Given the description of an element on the screen output the (x, y) to click on. 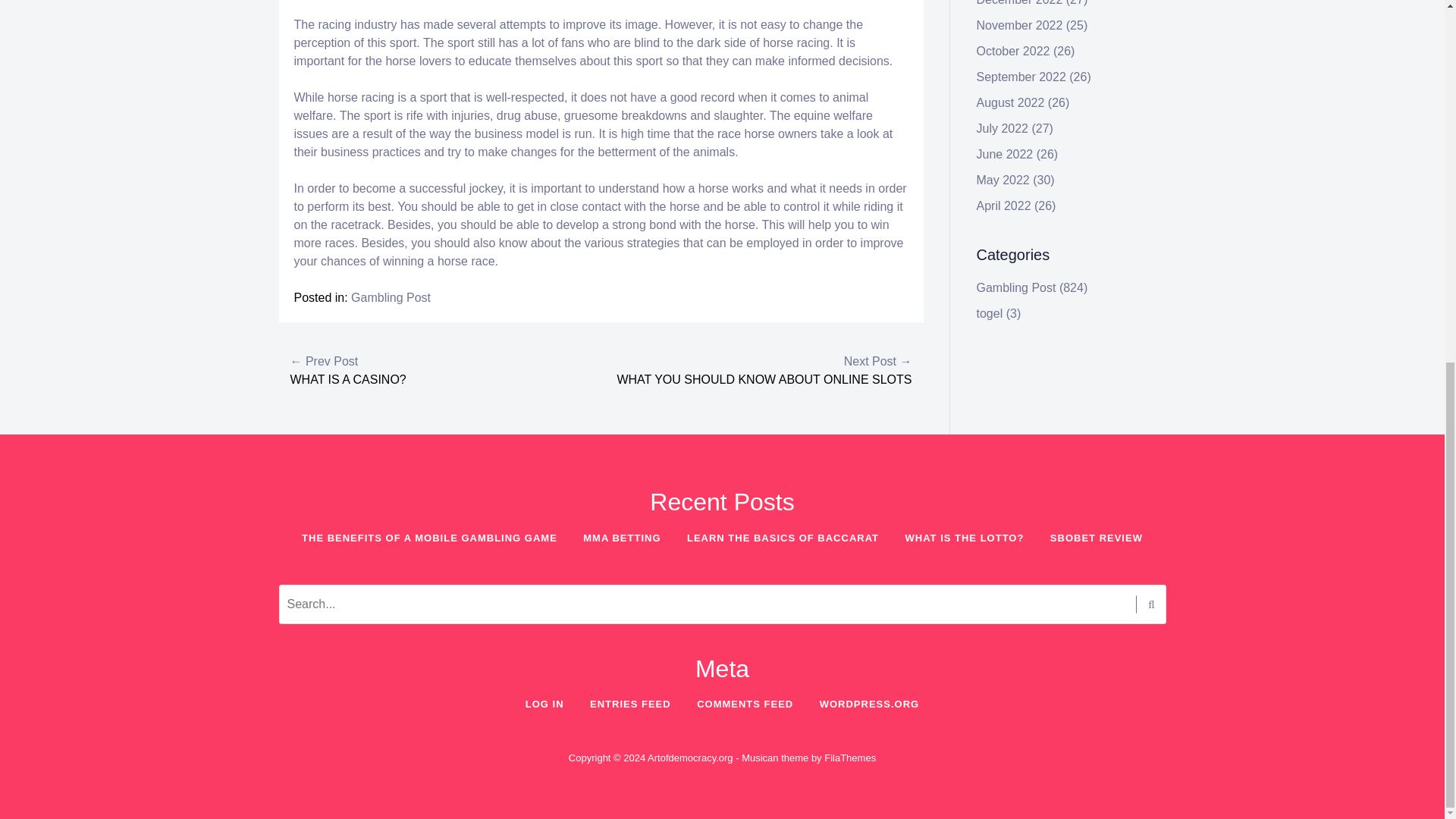
August 2022 (1010, 102)
Gambling Post (390, 297)
Artofdemocracy.org (689, 757)
December 2022 (1019, 2)
July 2022 (1002, 128)
May 2022 (1002, 179)
September 2022 (1020, 76)
June 2022 (1004, 154)
October 2022 (1012, 51)
November 2022 (1019, 24)
